Given the description of an element on the screen output the (x, y) to click on. 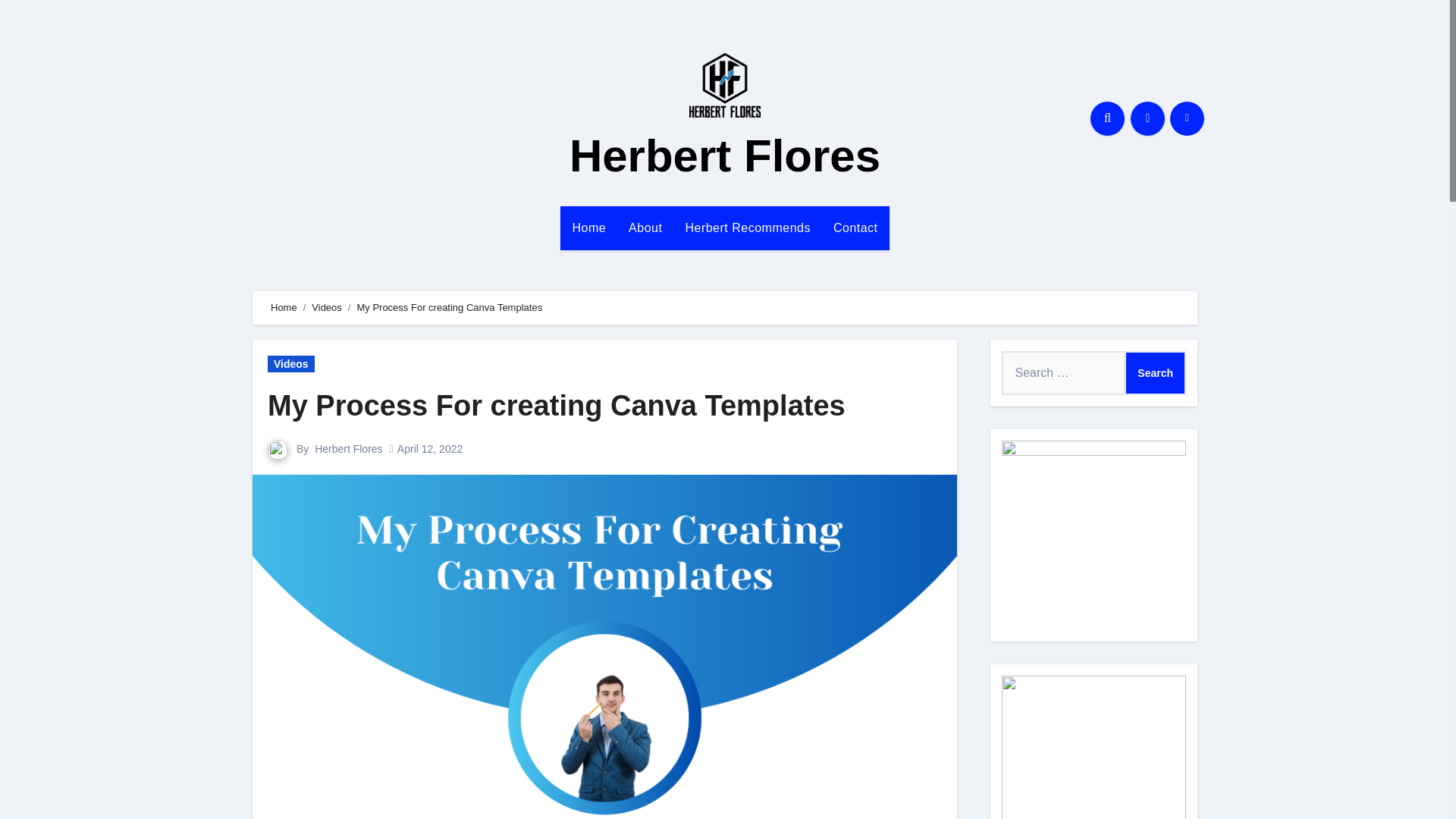
Herbert Recommends (747, 228)
Home (588, 228)
April 12, 2022 (430, 449)
Herbert Flores (724, 155)
Home (283, 307)
Search (1155, 372)
About (644, 228)
Permalink to: My Process For creating Canva Templates (556, 405)
Videos (290, 363)
Contact (855, 228)
